Given the description of an element on the screen output the (x, y) to click on. 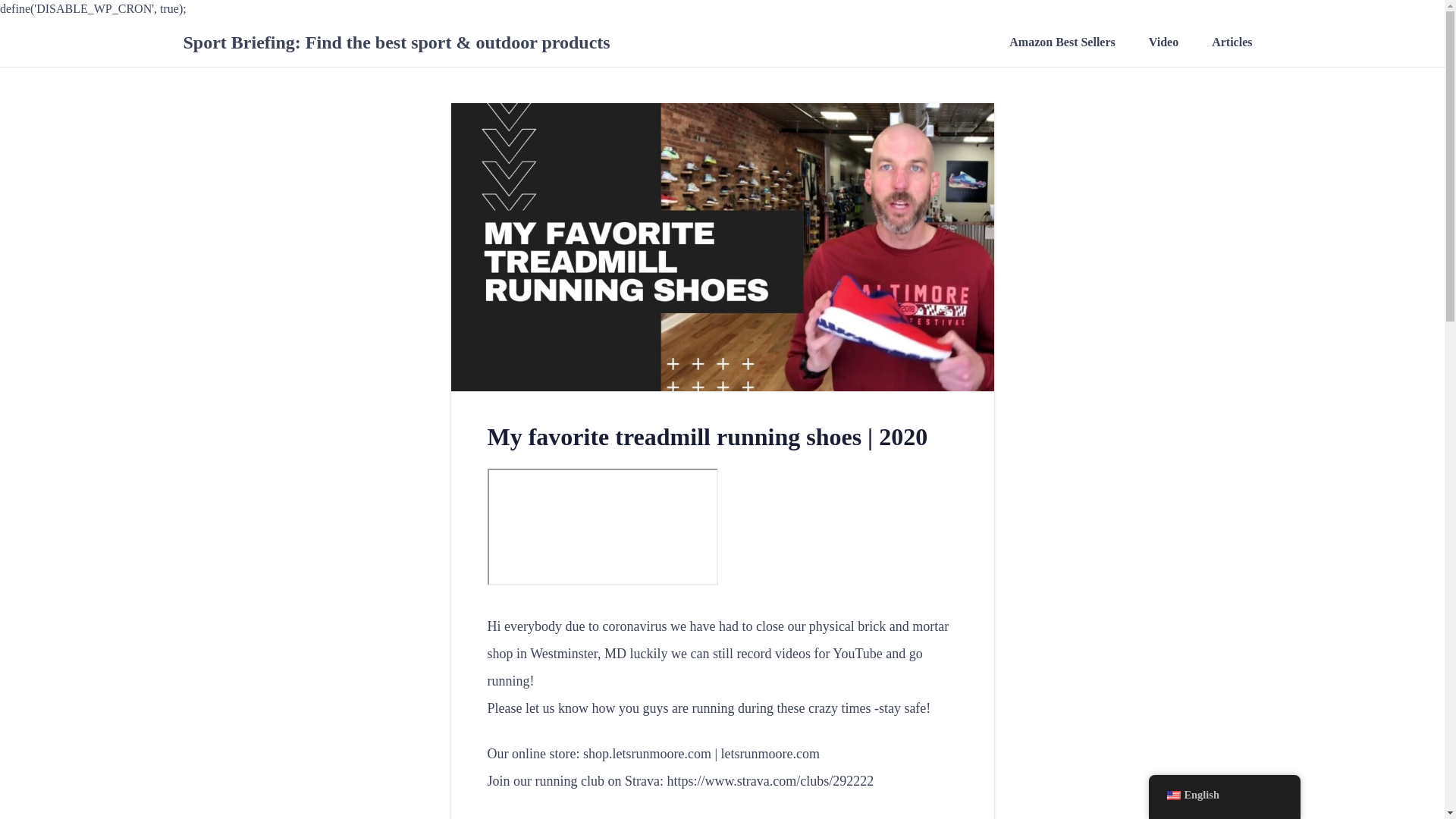
English (1224, 795)
English (1172, 795)
Articles (1231, 42)
Amazon Best Sellers (1062, 42)
Video (1164, 42)
